Given the description of an element on the screen output the (x, y) to click on. 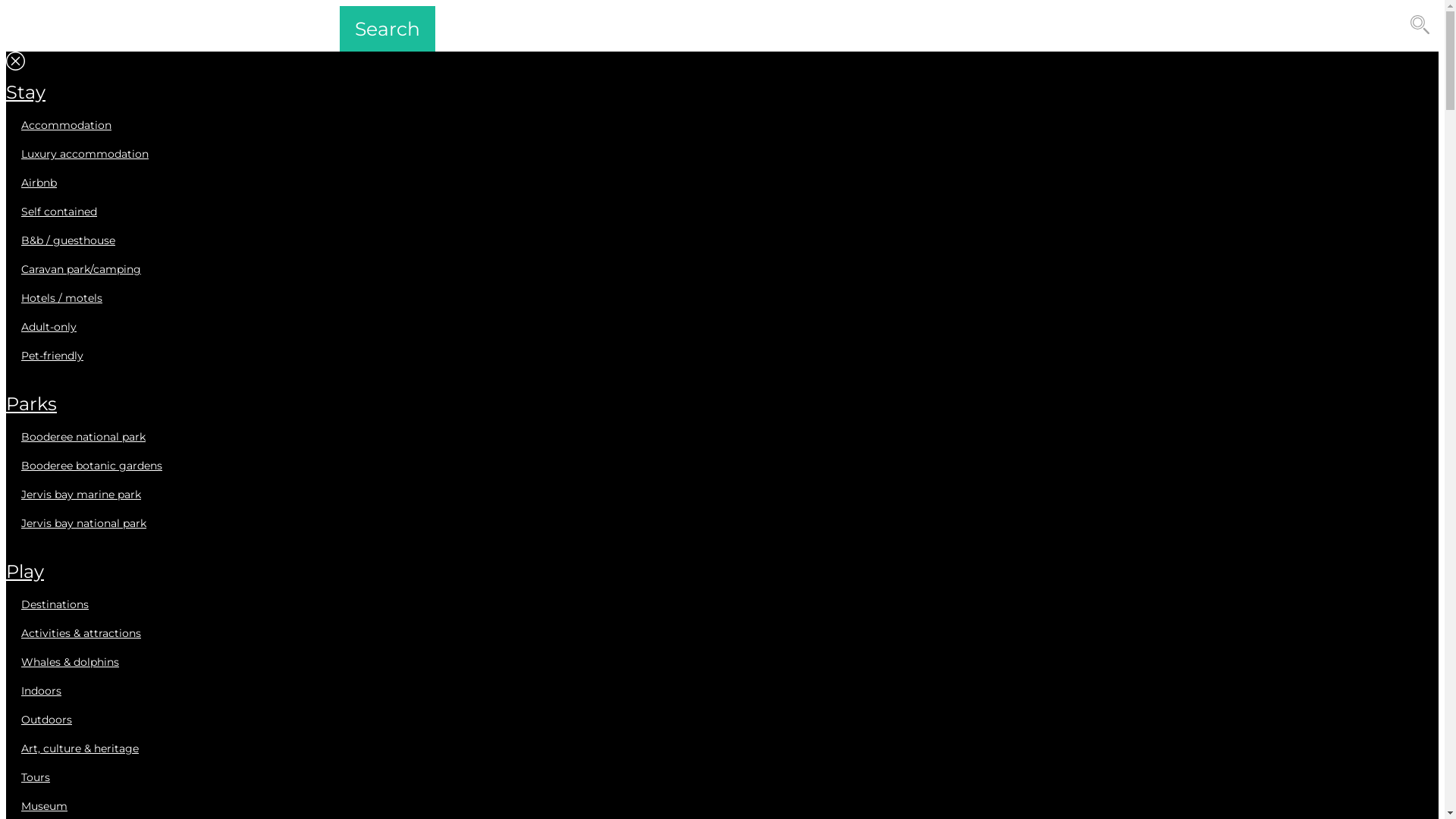
booderee national park Element type: text (83, 436)
pet-friendly Element type: text (52, 355)
b&b / guesthouse Element type: text (68, 239)
Search Element type: text (387, 28)
luxury accommodation Element type: text (84, 153)
tours Element type: text (35, 776)
self contained Element type: text (59, 211)
whales & dolphins Element type: text (70, 661)
accommodation Element type: text (66, 124)
jervis bay national park Element type: text (83, 522)
hotels / motels Element type: text (61, 297)
parks Element type: text (31, 403)
play Element type: text (24, 570)
stay Element type: text (25, 91)
destinations Element type: text (54, 603)
airbnb Element type: text (38, 182)
jervis bay marine park Element type: text (81, 494)
caravan park/camping Element type: text (81, 268)
outdoors Element type: text (46, 719)
adult-only Element type: text (48, 326)
booderee botanic gardens Element type: text (91, 465)
art, culture & heritage Element type: text (79, 748)
indoors Element type: text (41, 690)
activities & attractions Element type: text (81, 632)
